Given the description of an element on the screen output the (x, y) to click on. 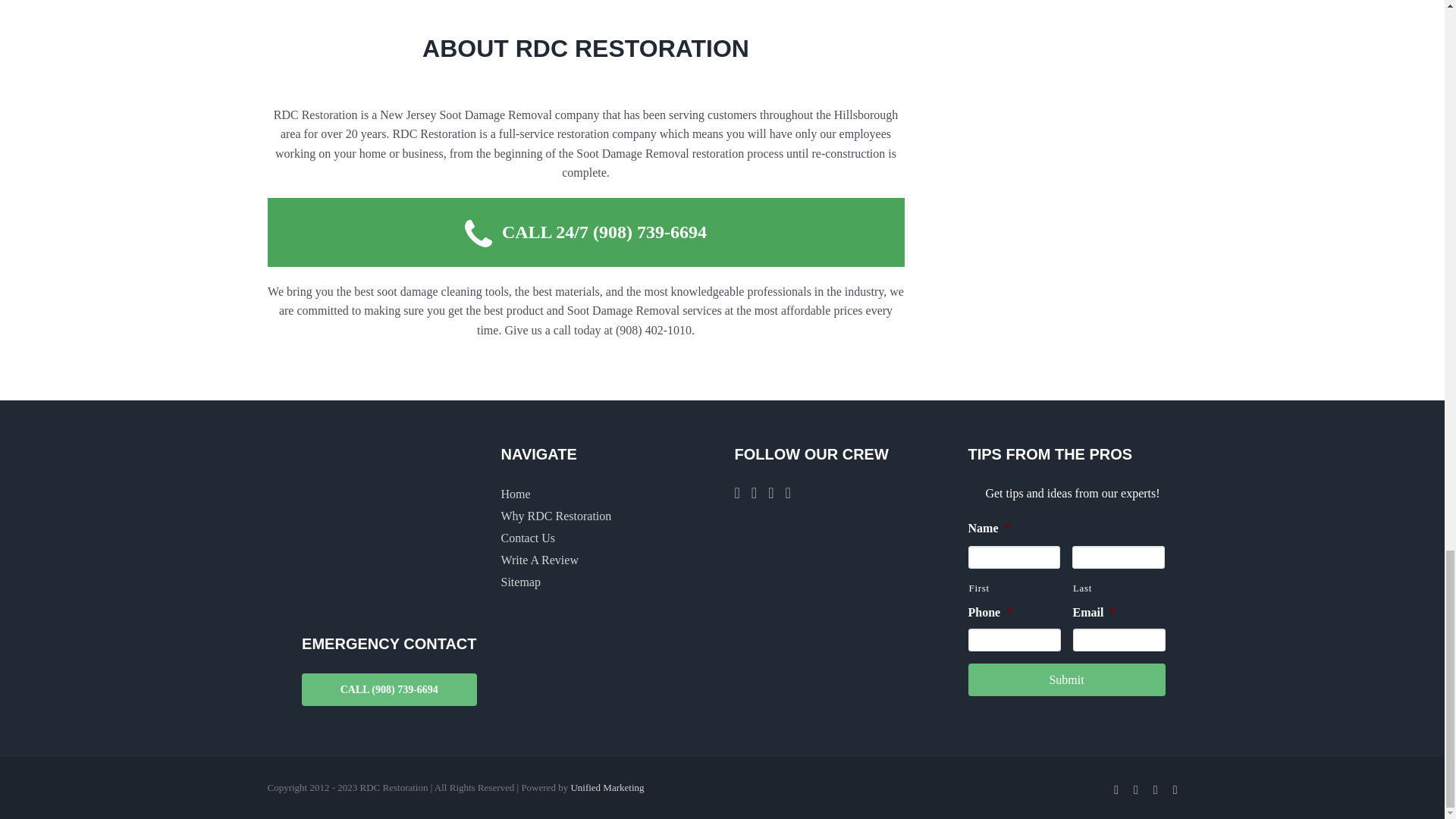
Click for the BBB Business Review of RDC Restoration LLC. (897, 558)
Submit (1066, 679)
